Given the description of an element on the screen output the (x, y) to click on. 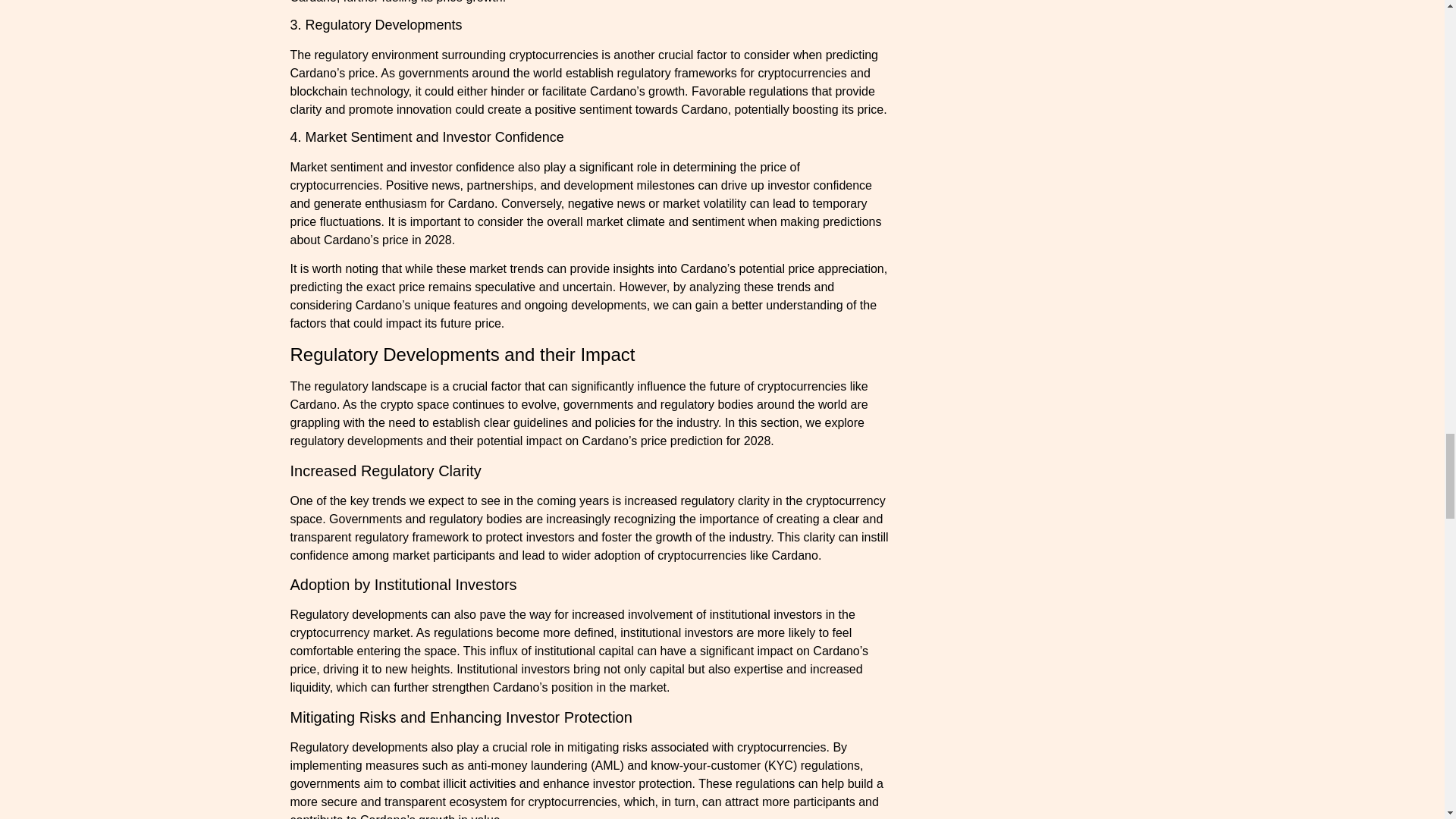
crypto (396, 404)
